Given the description of an element on the screen output the (x, y) to click on. 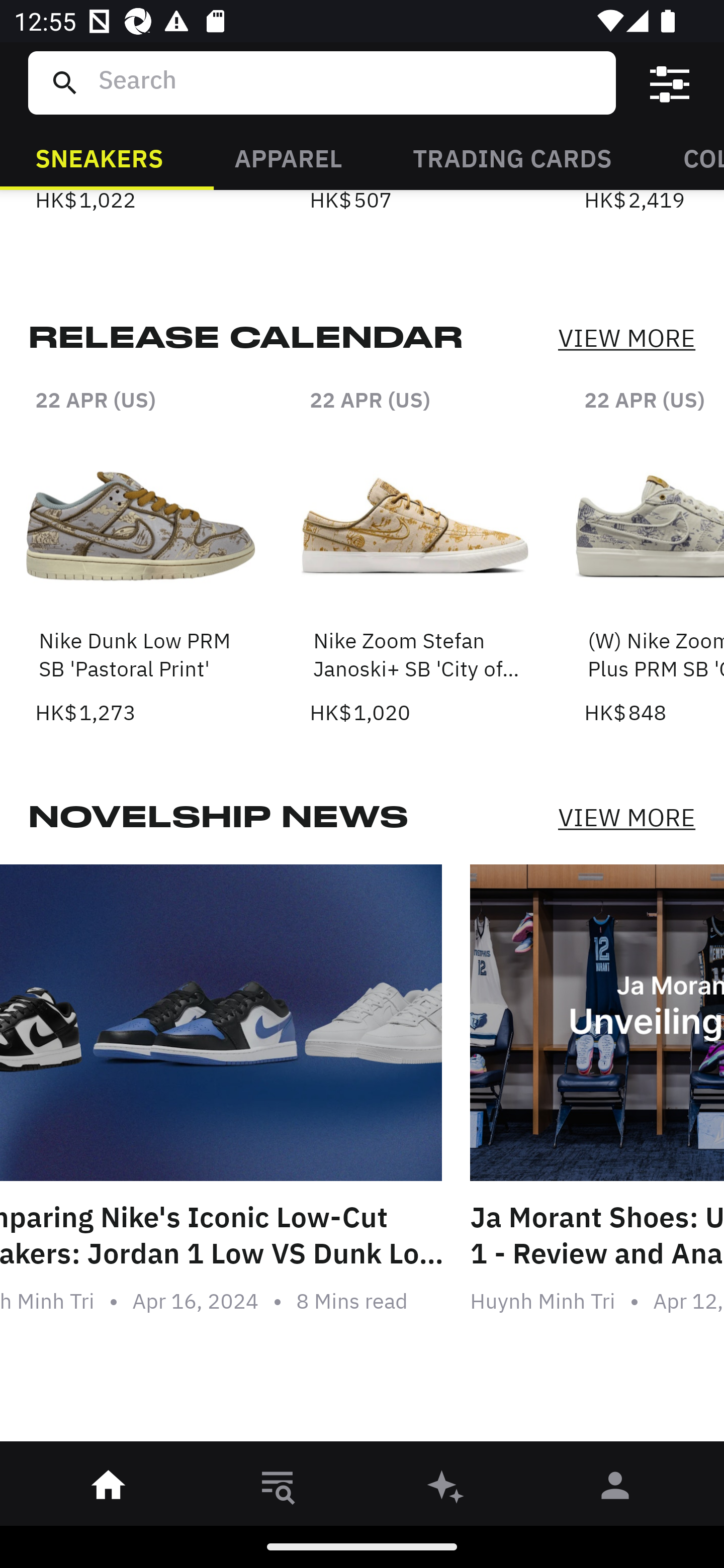
Search (349, 82)
 (669, 82)
SNEAKERS (99, 156)
APPAREL (287, 156)
TRADING CARDS (512, 156)
VIEW MORE (626, 338)
VIEW MORE (626, 816)
󰋜 (108, 1488)
󱎸 (277, 1488)
󰫢 (446, 1488)
󰀄 (615, 1488)
